Given the description of an element on the screen output the (x, y) to click on. 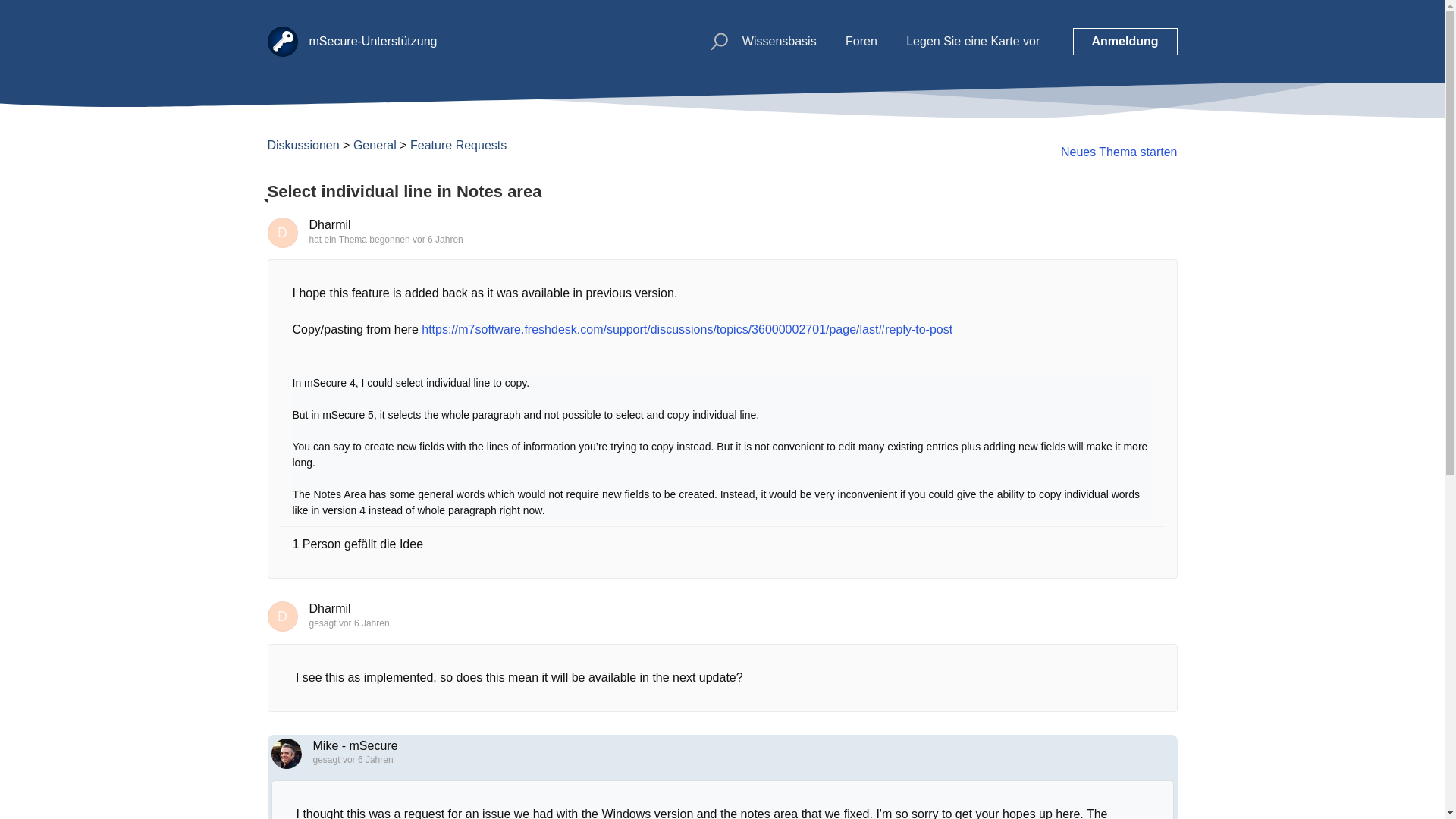
Foren (861, 41)
Feature Requests (458, 144)
Neues Thema starten (1119, 151)
Mi, Mai 9, 2018 um  4:49 VORMITTAGS (364, 623)
Diskussionen (302, 144)
Anmeldung (1123, 41)
General (374, 144)
Mi, Mai 9, 2018 um  9:15 VORMITTAGS (367, 759)
Wissensbasis (779, 41)
Neues Thema starten (1119, 151)
Mo, Apr 9, 2018 um  6:20 VORMITTAGS (437, 239)
Legen Sie eine Karte vor (972, 41)
